Given the description of an element on the screen output the (x, y) to click on. 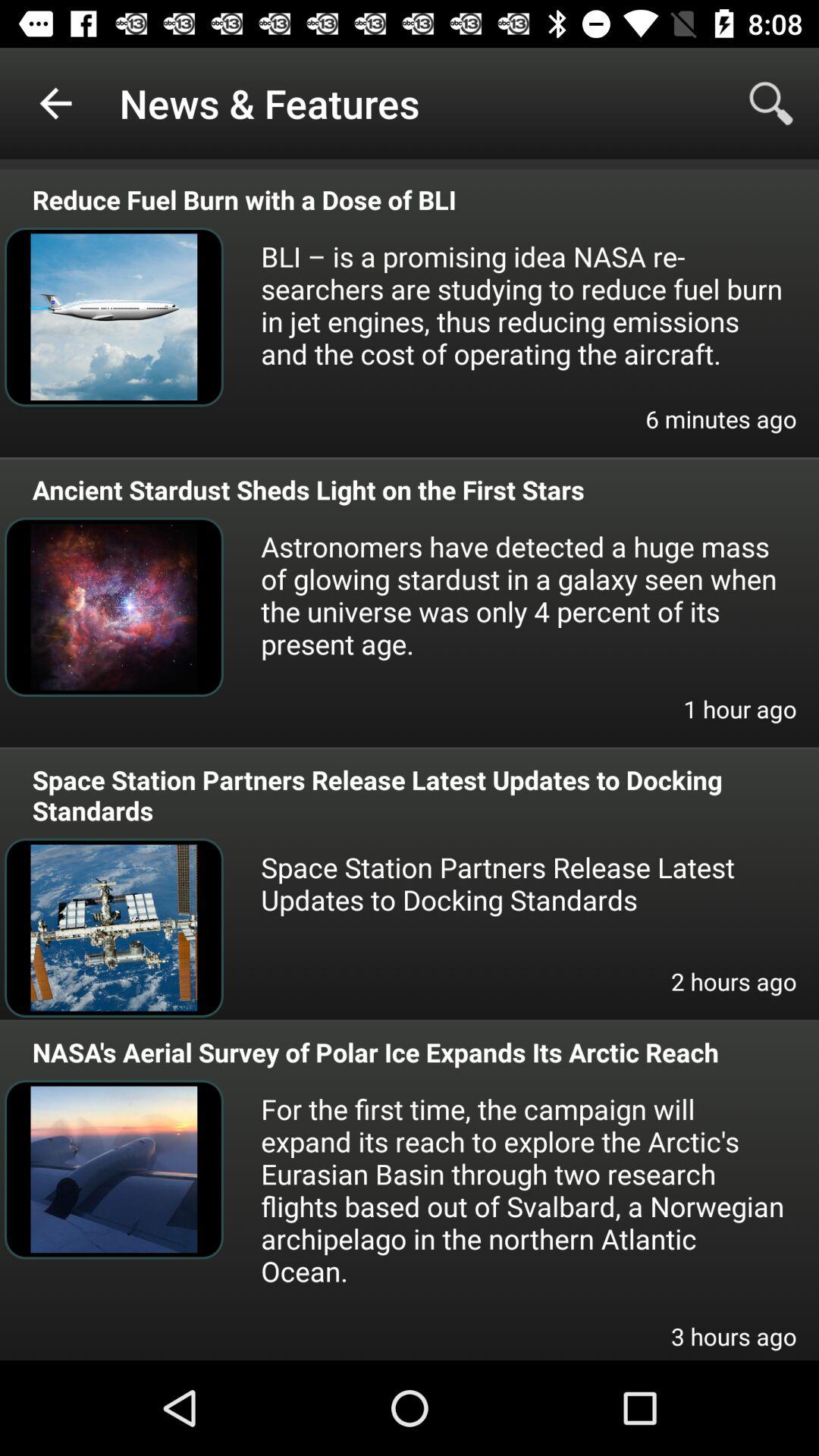
turn off 6 minutes ago item (720, 428)
